Given the description of an element on the screen output the (x, y) to click on. 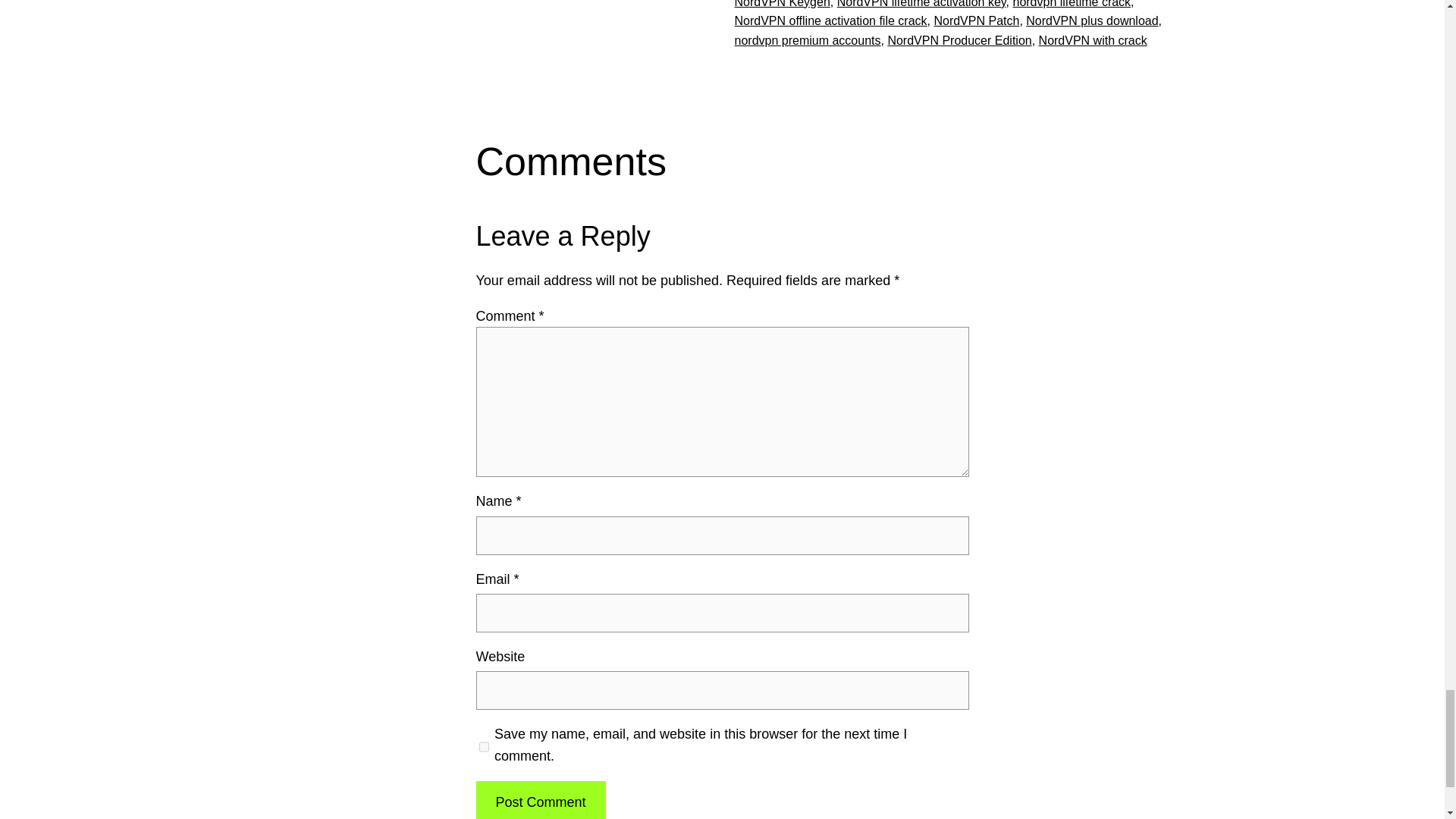
nordvpn lifetime crack (1071, 4)
yes (484, 746)
Post Comment (540, 800)
NordVPN Keygen (781, 4)
NordVPN lifetime activation key (921, 4)
NordVPN Patch (976, 20)
NordVPN offline activation file crack (829, 20)
NordVPN plus download (1091, 20)
